Given the description of an element on the screen output the (x, y) to click on. 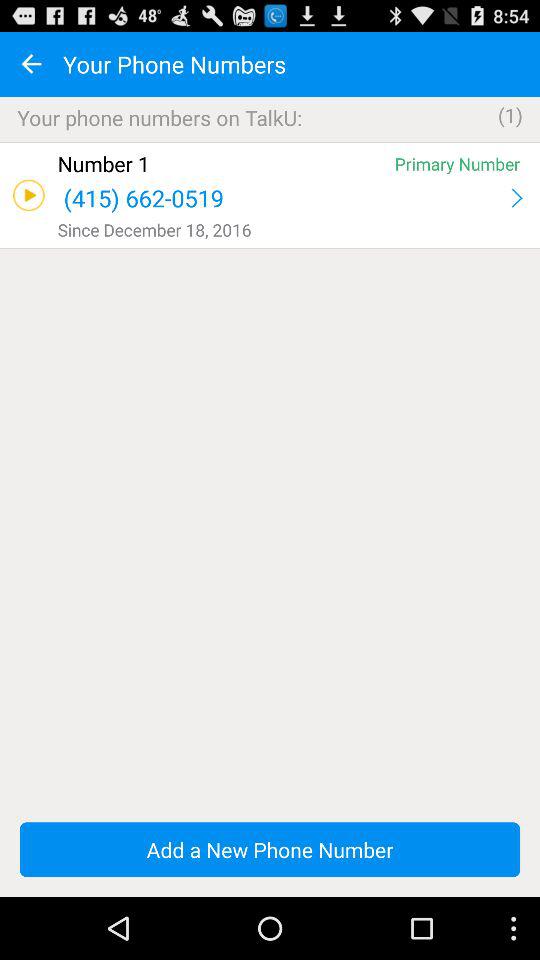
click app above the since december 18 (282, 198)
